Given the description of an element on the screen output the (x, y) to click on. 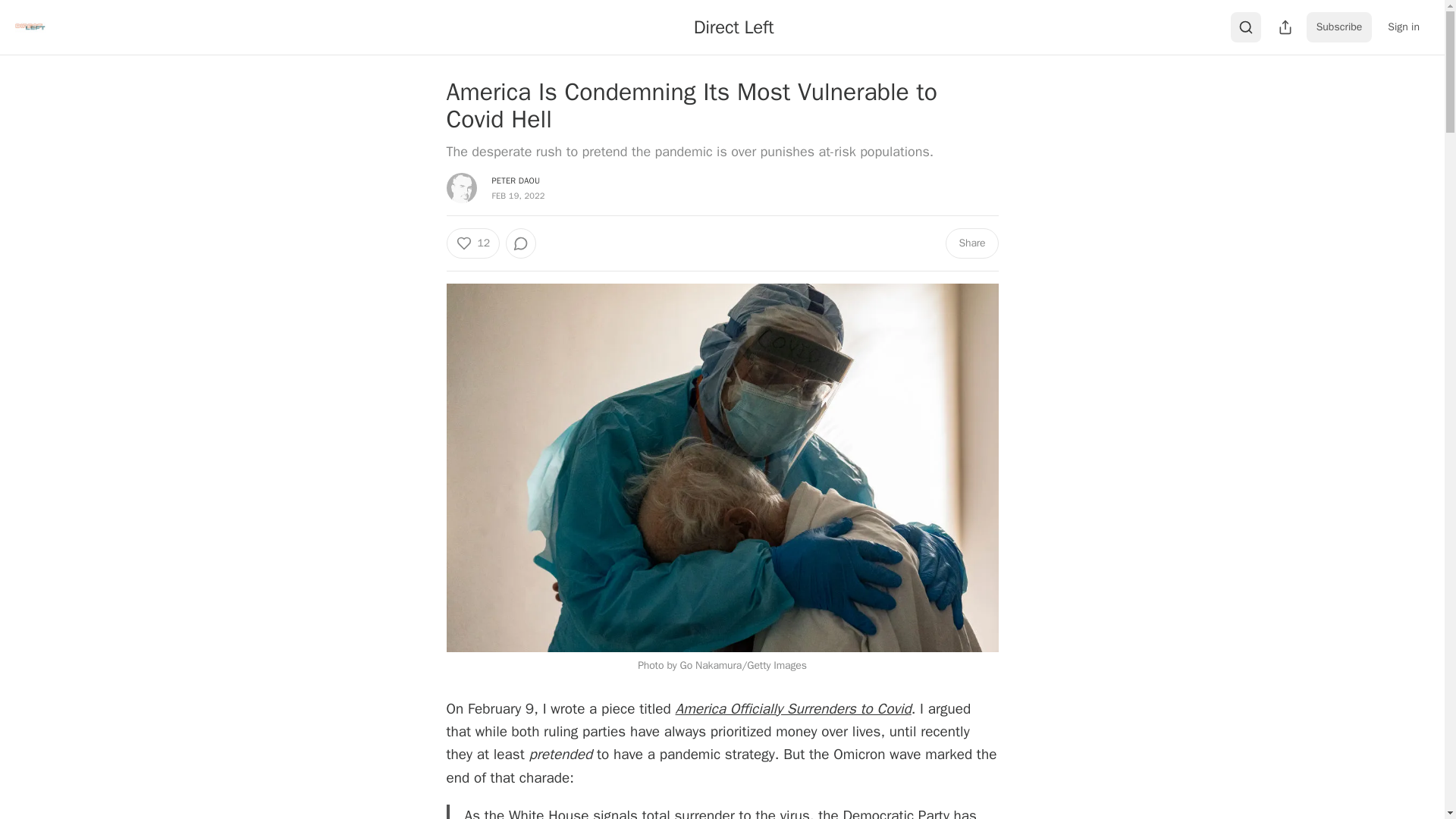
Sign in (1403, 27)
Share (970, 243)
Subscribe (1339, 27)
America Officially Surrenders to Covid (793, 709)
12 (472, 243)
Direct Left (734, 26)
PETER DAOU (516, 180)
